Given the description of an element on the screen output the (x, y) to click on. 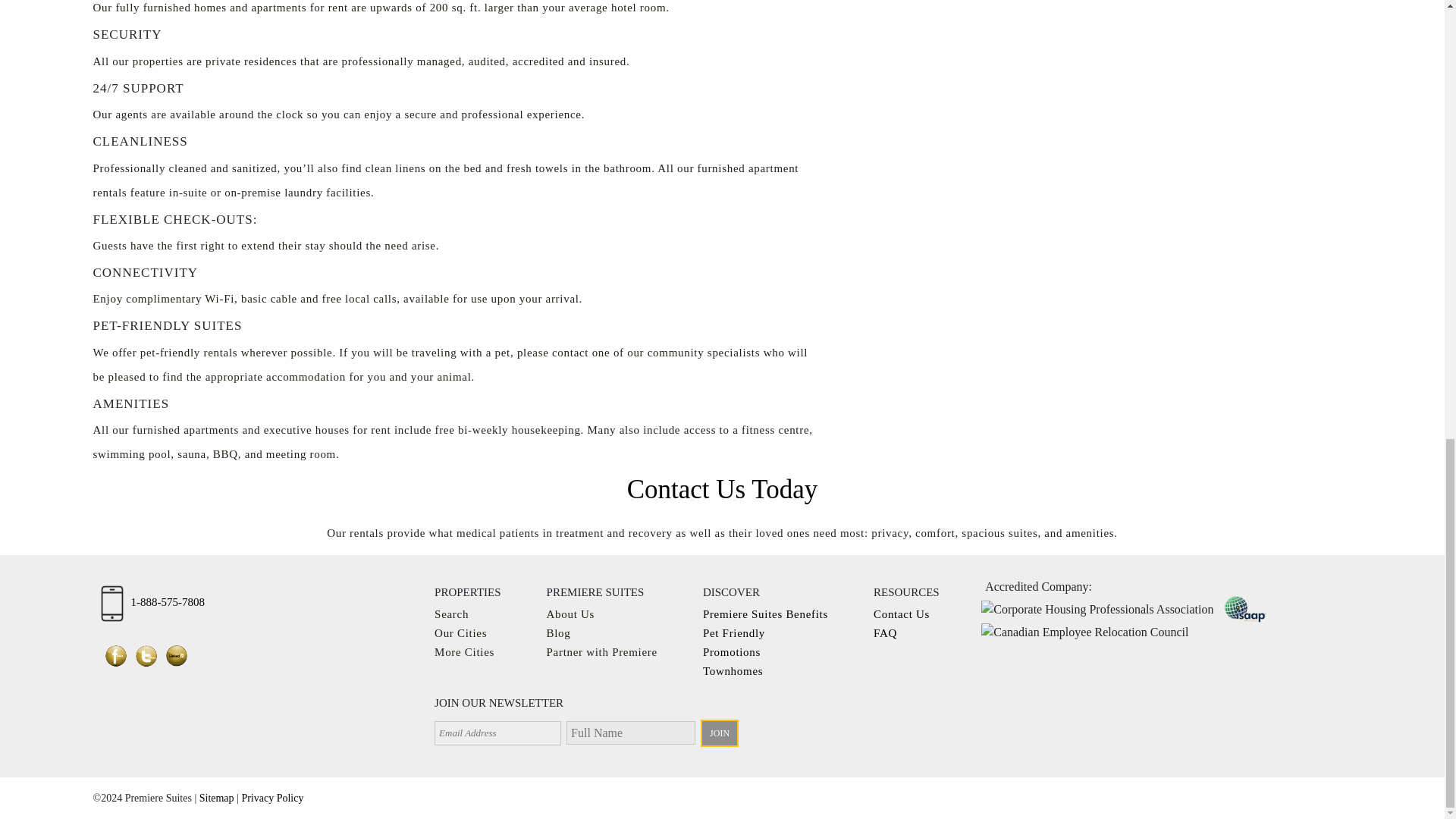
Premiere Suites Benefits (765, 613)
About Us (571, 613)
Contact Us (901, 613)
Partner with Premiere (602, 652)
Promotions (731, 652)
JOIN (719, 732)
Blog (558, 633)
Townhomes (732, 671)
1-888-575-7808 (152, 603)
Search (450, 613)
